Given the description of an element on the screen output the (x, y) to click on. 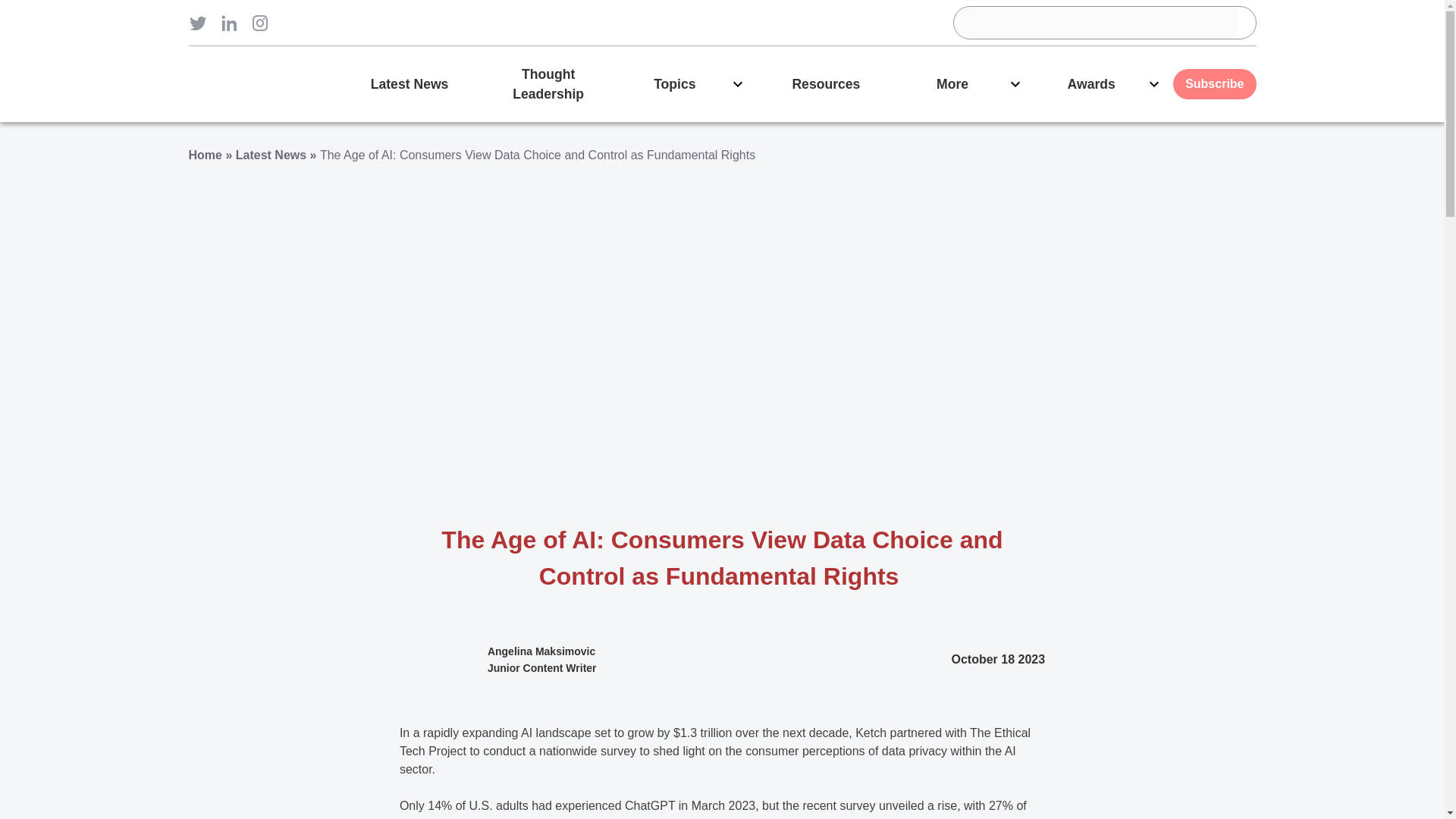
Subscribe (1214, 83)
Awards (1103, 83)
Resources (826, 83)
Thought Leadership (548, 83)
Latest News (270, 154)
More (964, 83)
Home (204, 154)
October 18 2023 (997, 659)
Latest News (409, 83)
Angelina Maksimovic (541, 651)
Topics (687, 83)
